Given the description of an element on the screen output the (x, y) to click on. 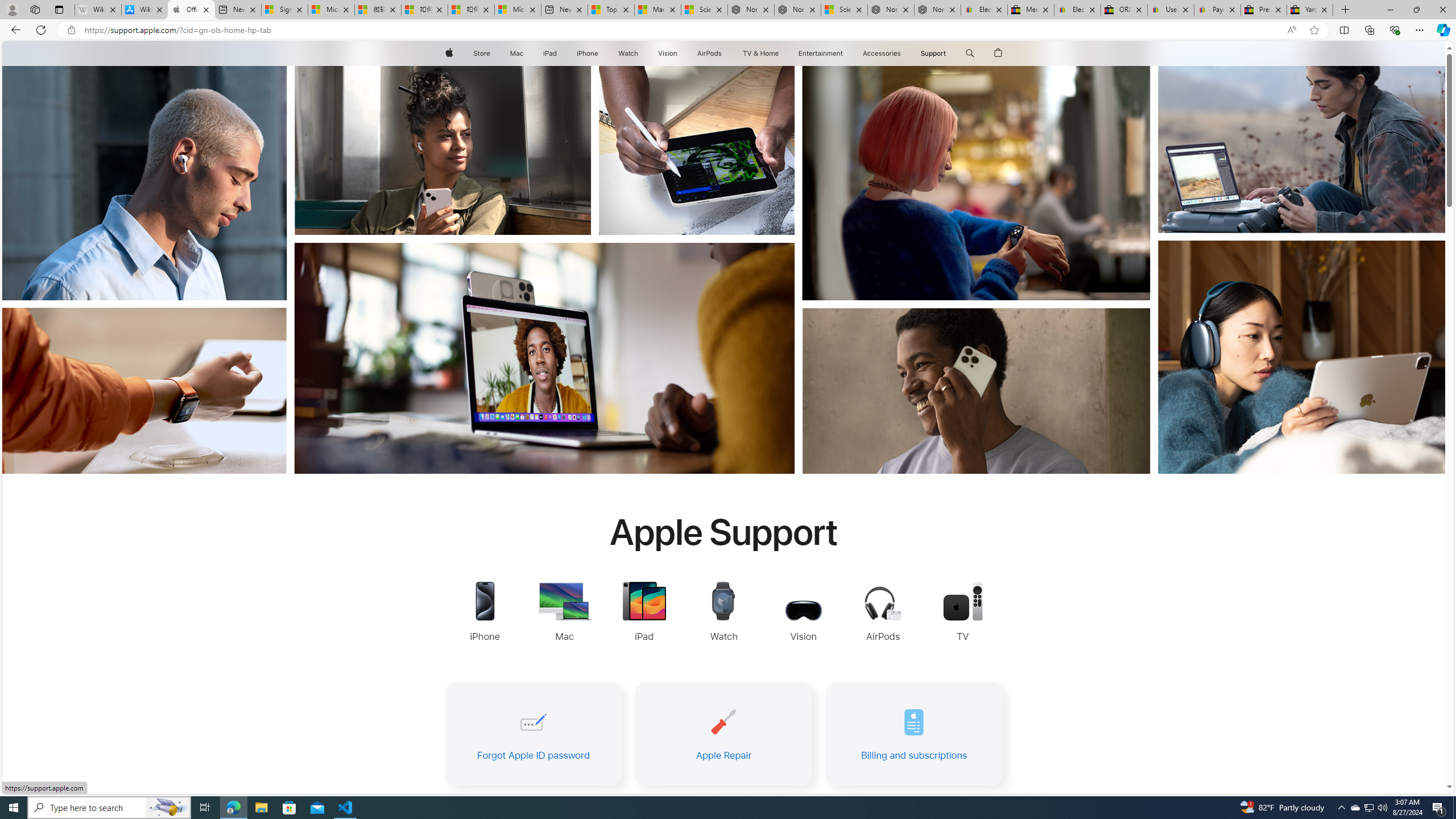
Vision menu (678, 53)
Mac Support (564, 612)
iPad (550, 53)
Mac (516, 53)
Support (932, 53)
Forgot Apple ID password (532, 734)
Entertainment menu (844, 53)
Support menu (948, 53)
Apple Repair (723, 734)
